Given the description of an element on the screen output the (x, y) to click on. 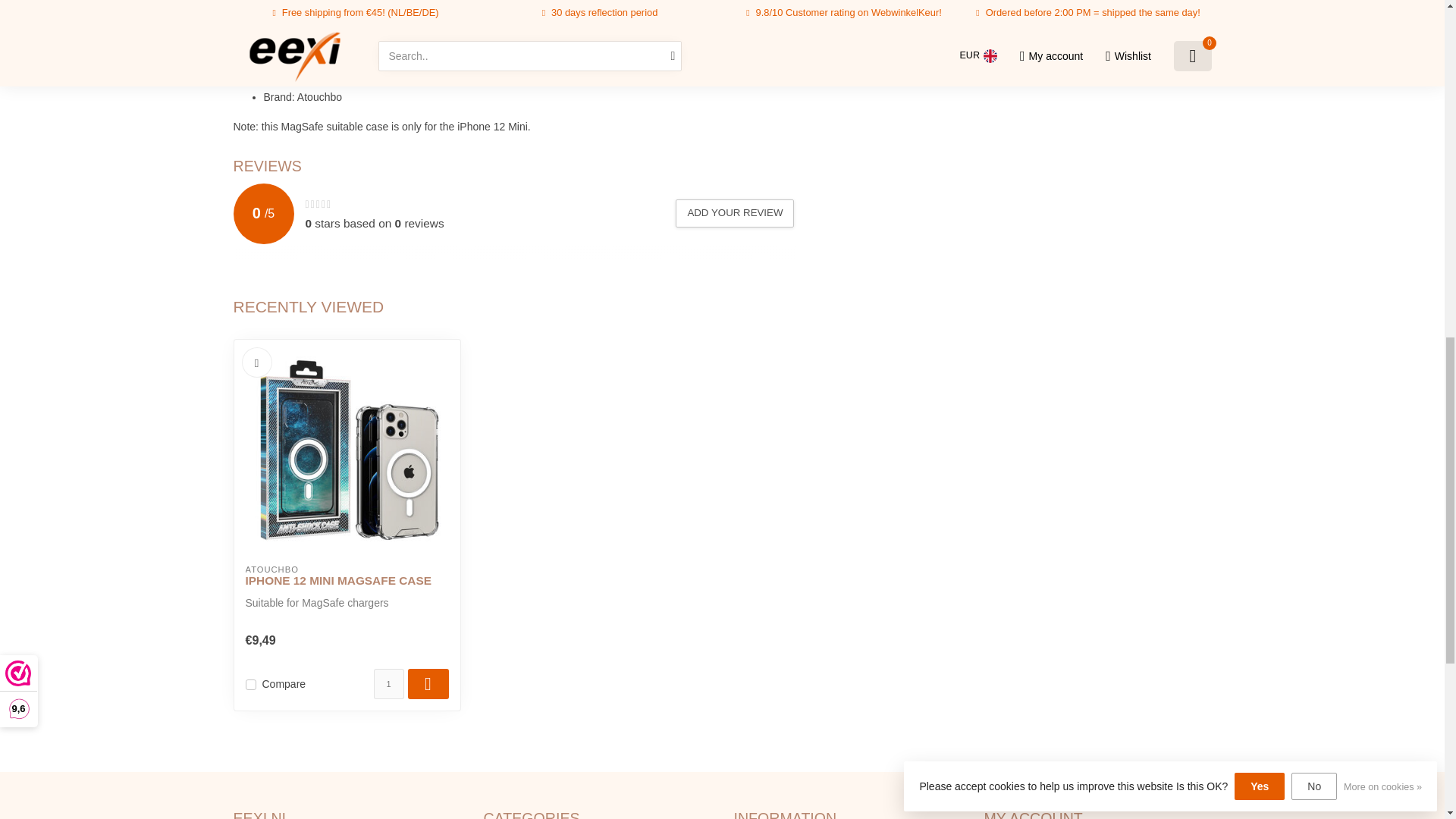
Atouchbo iPhone 12 Mini MagSafe case (347, 581)
Atouchbo iPhone 12 Mini MagSafe case (347, 452)
1 (387, 684)
